Given the description of an element on the screen output the (x, y) to click on. 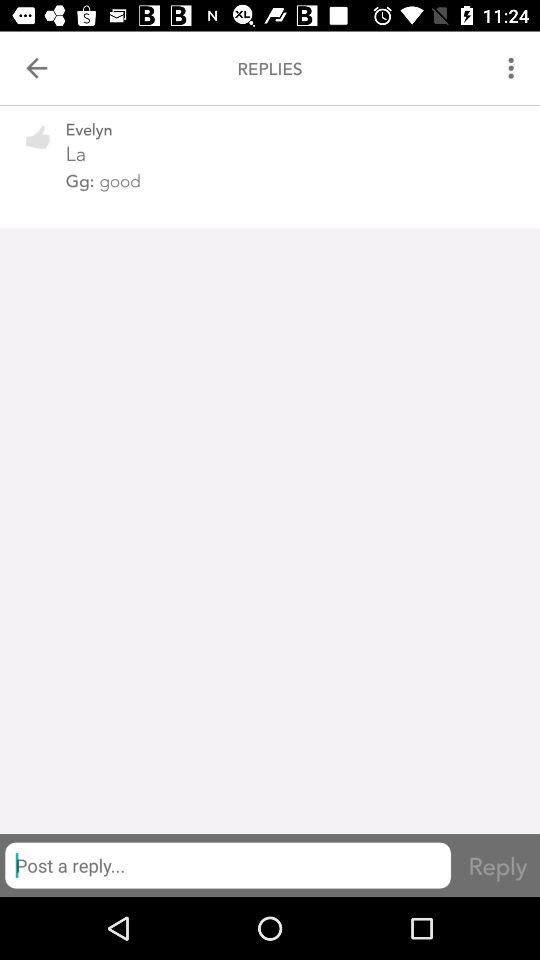
turn on item to the left of replies (36, 68)
